Given the description of an element on the screen output the (x, y) to click on. 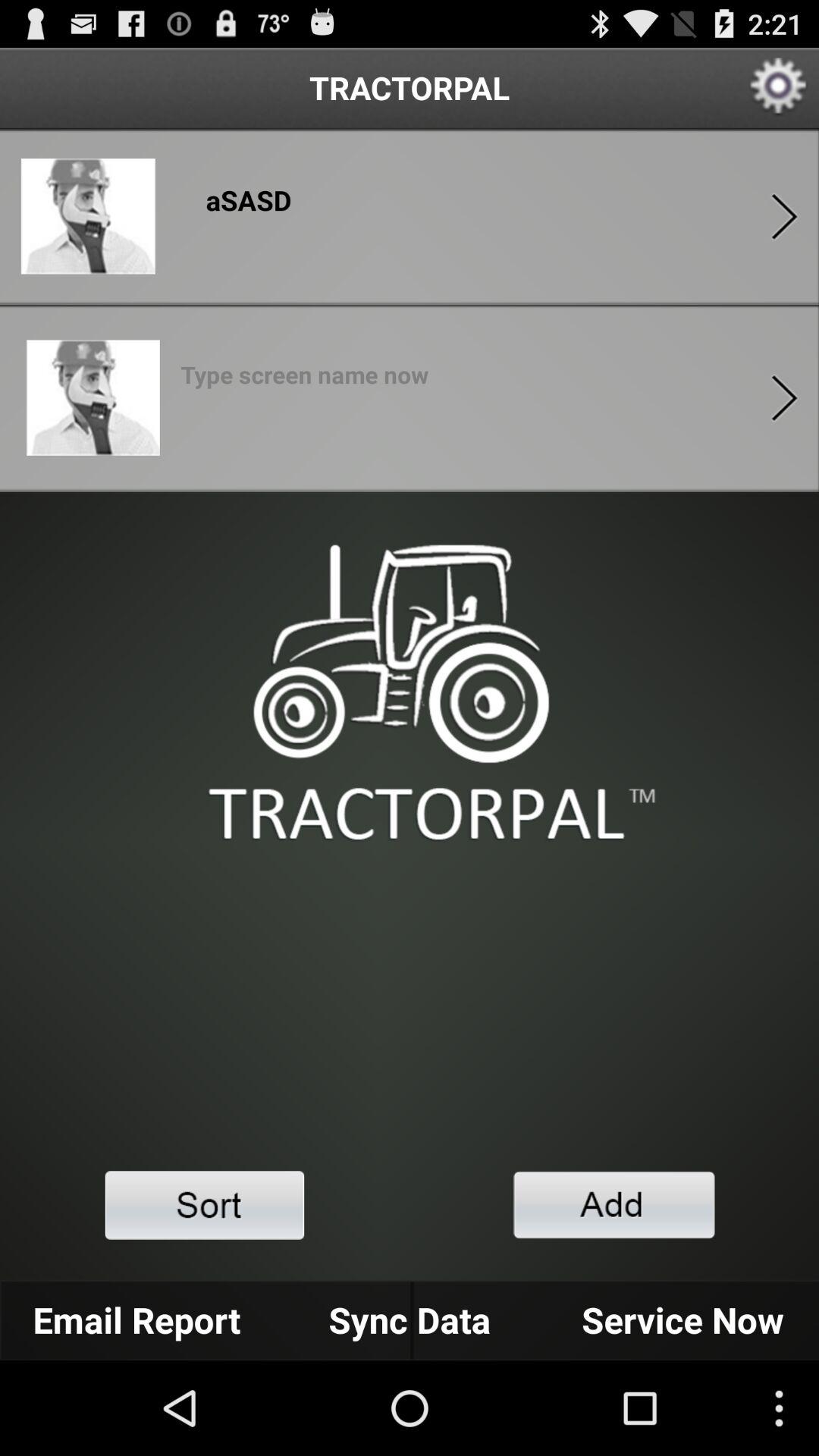
back farce (784, 216)
